Given the description of an element on the screen output the (x, y) to click on. 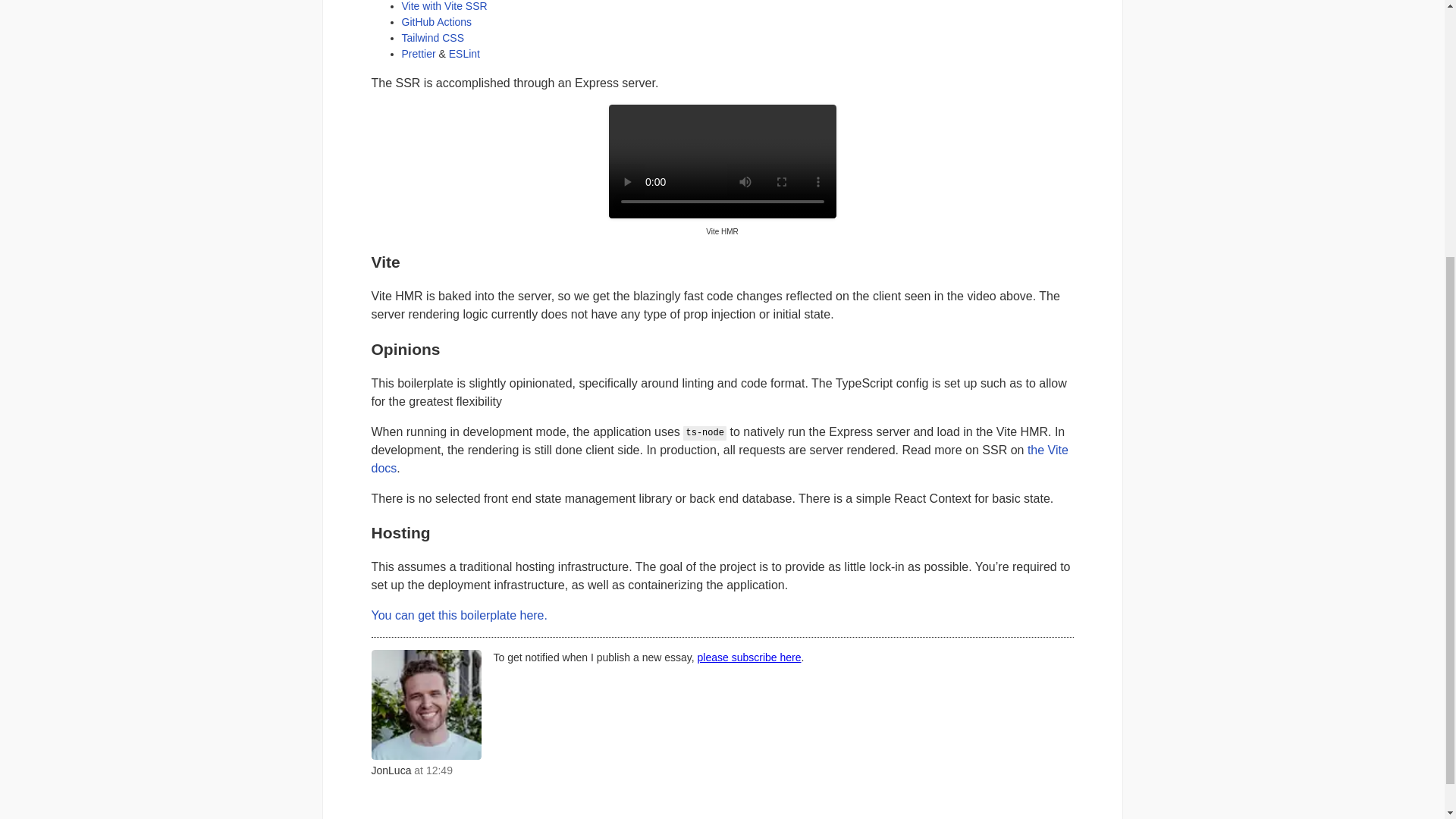
Vite with Vite SSR (444, 6)
Tailwind CSS (432, 37)
Prettier (418, 53)
ESLint (464, 53)
GitHub Actions (436, 21)
You can get this boilerplate here. (459, 615)
please subscribe here (749, 657)
JonLuca's Substack (749, 657)
the Vite docs (719, 459)
